Given the description of an element on the screen output the (x, y) to click on. 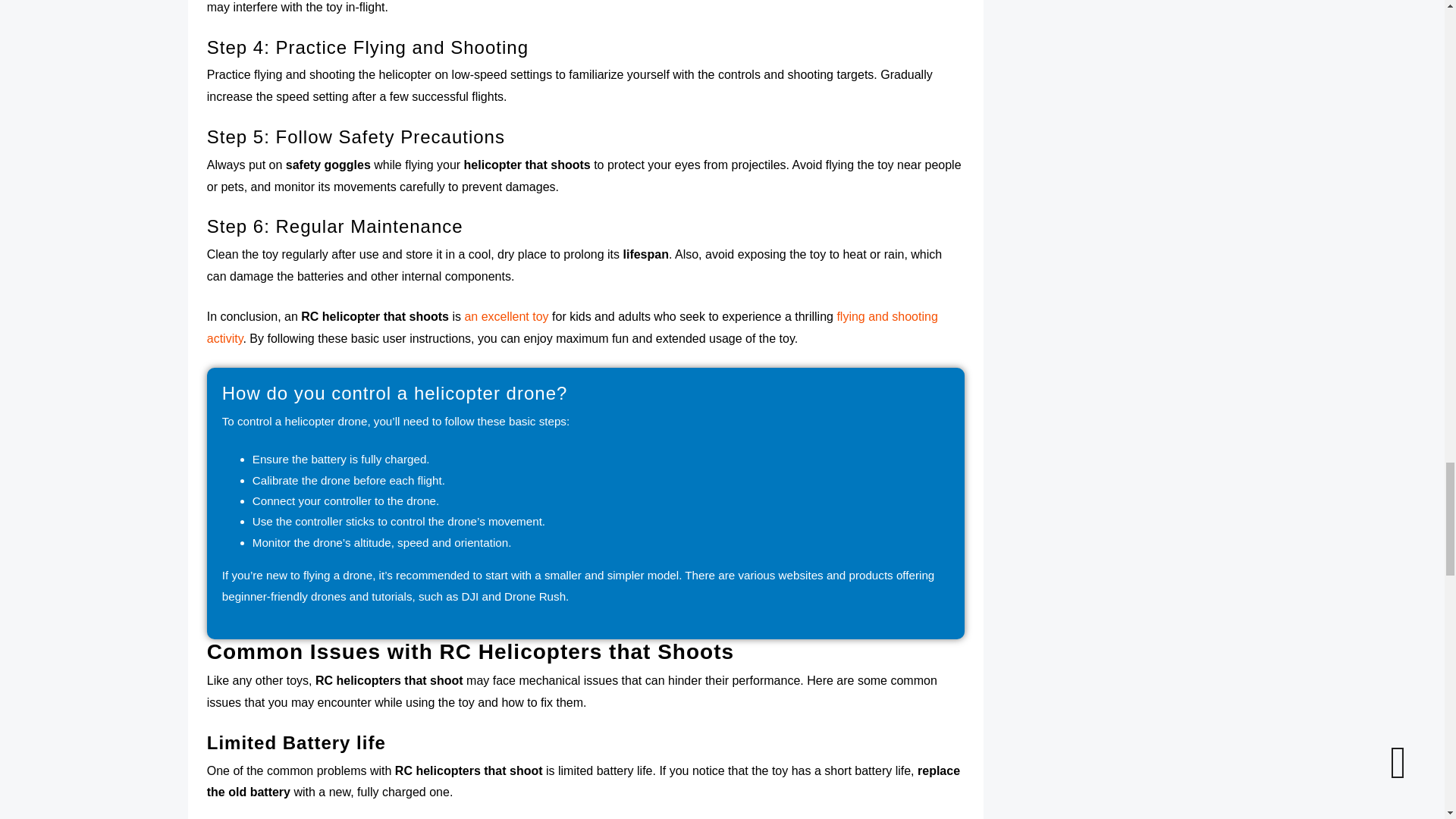
flying and shooting activity (571, 327)
an excellent toy (506, 316)
